Given the description of an element on the screen output the (x, y) to click on. 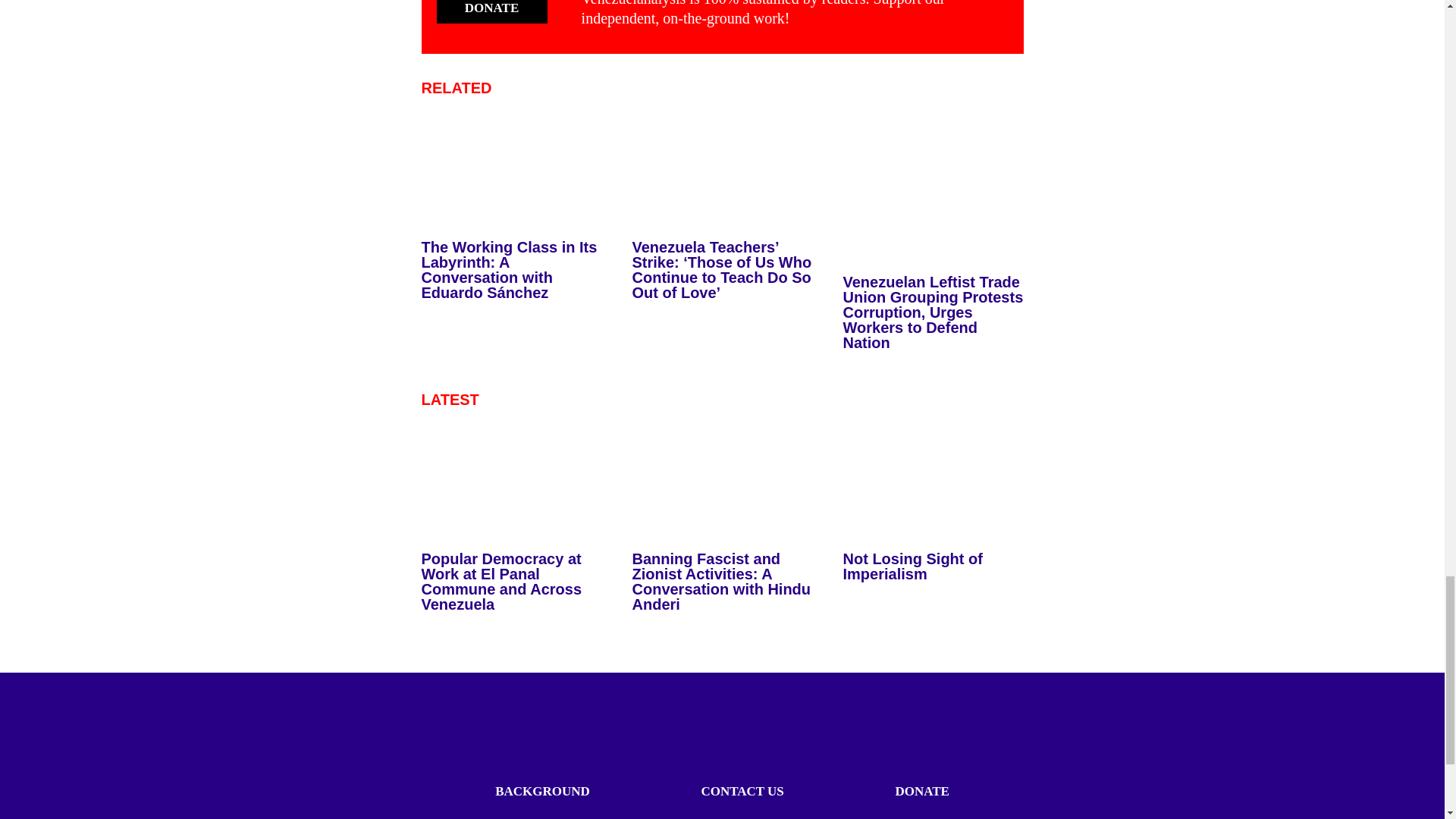
DONATE (491, 11)
